Given the description of an element on the screen output the (x, y) to click on. 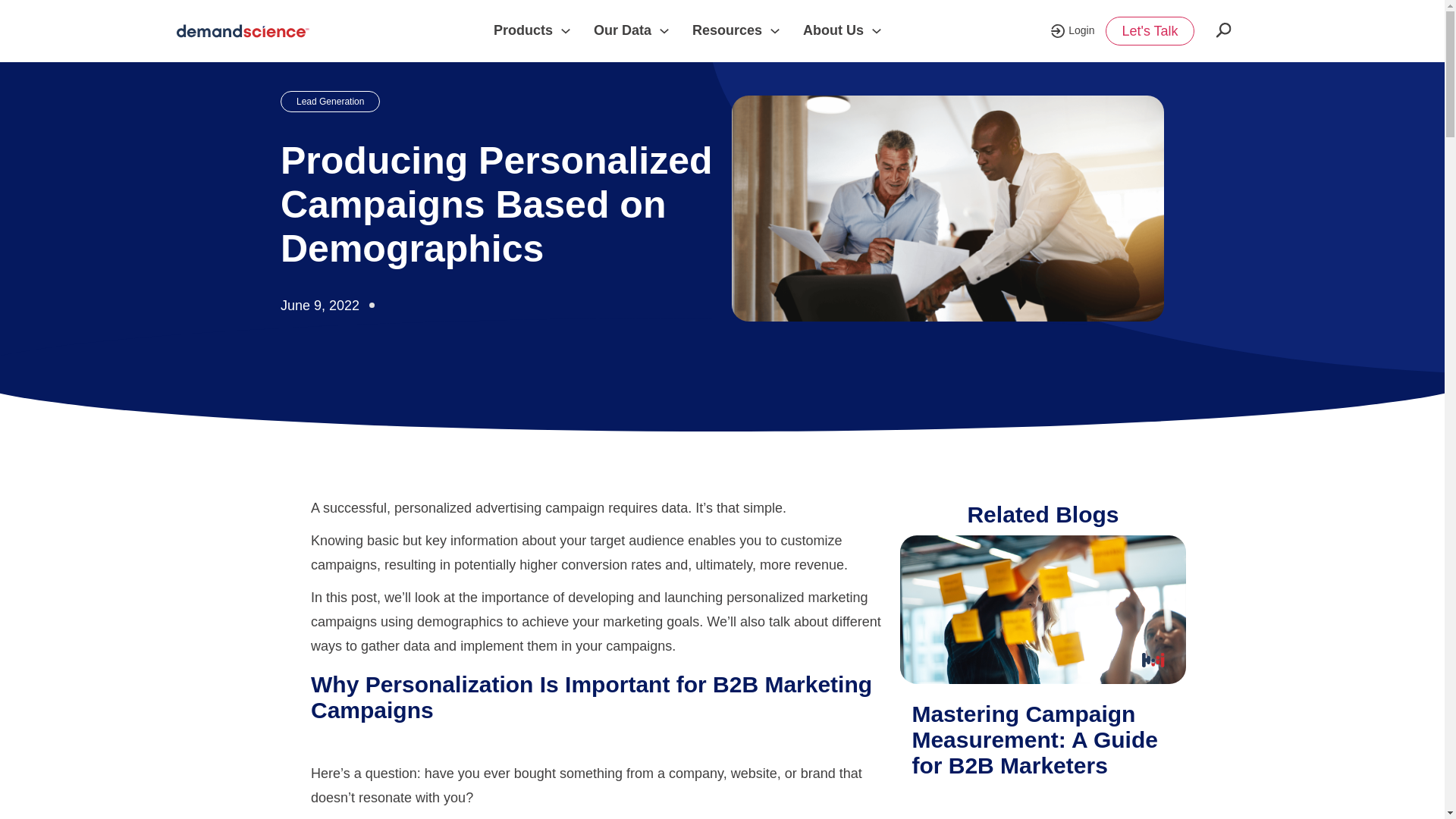
Mastering Campaign Measurement: A Guide for B2B Marketers (1034, 739)
Our Data (622, 30)
Resources (727, 30)
Products (523, 30)
Mastering Campaign Measurement: A Guide for B2B Marketers (1042, 611)
Lead Generation (330, 101)
About Us (833, 30)
